Given the description of an element on the screen output the (x, y) to click on. 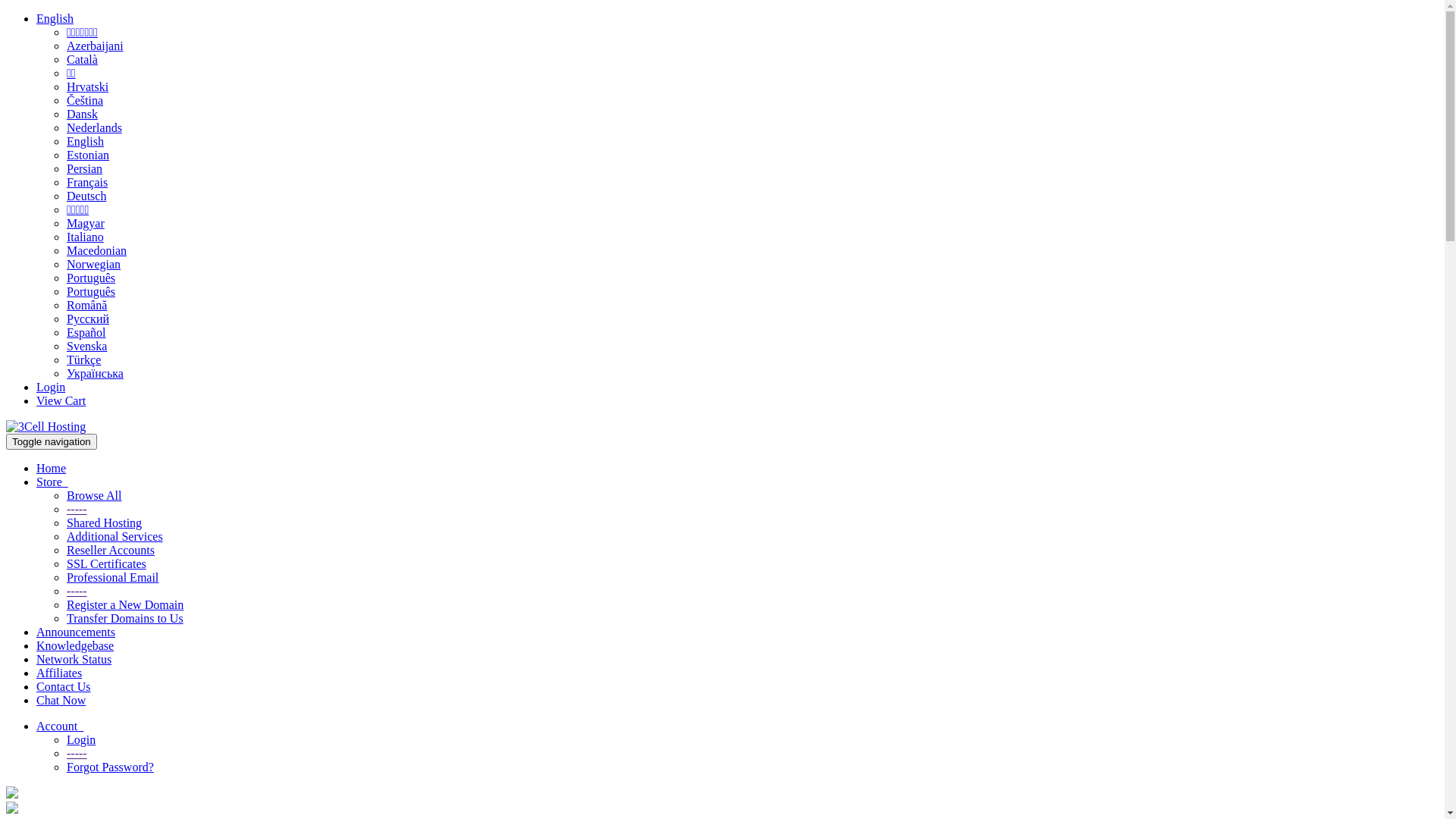
Dansk Element type: text (81, 113)
Deutsch Element type: text (86, 195)
Hrvatski Element type: text (87, 86)
Browse All Element type: text (93, 495)
Register a New Domain Element type: text (124, 604)
Azerbaijani Element type: text (94, 45)
Chat Now Element type: text (60, 699)
Italiano Element type: text (84, 236)
View Cart Element type: text (60, 400)
----- Element type: text (76, 752)
Additional Services Element type: text (114, 536)
Toggle navigation Element type: text (51, 441)
English Element type: text (54, 18)
Account   Element type: text (59, 725)
Store   Element type: text (52, 481)
Norwegian Element type: text (93, 263)
Magyar Element type: text (85, 222)
Macedonian Element type: text (96, 250)
Knowledgebase Element type: text (74, 645)
English Element type: text (84, 140)
Professional Email Element type: text (112, 577)
Estonian Element type: text (87, 154)
Nederlands Element type: text (94, 127)
Svenska Element type: text (86, 345)
Shared Hosting Element type: text (103, 522)
Login Element type: text (80, 739)
Persian Element type: text (84, 168)
Network Status Element type: text (73, 658)
Forgot Password? Element type: text (109, 766)
Login Element type: text (50, 386)
SSL Certificates Element type: text (106, 563)
----- Element type: text (76, 590)
----- Element type: text (76, 508)
Reseller Accounts Element type: text (110, 549)
Home Element type: text (50, 467)
Contact Us Element type: text (63, 686)
Affiliates Element type: text (58, 672)
Announcements Element type: text (75, 631)
Transfer Domains to Us Element type: text (124, 617)
